Given the description of an element on the screen output the (x, y) to click on. 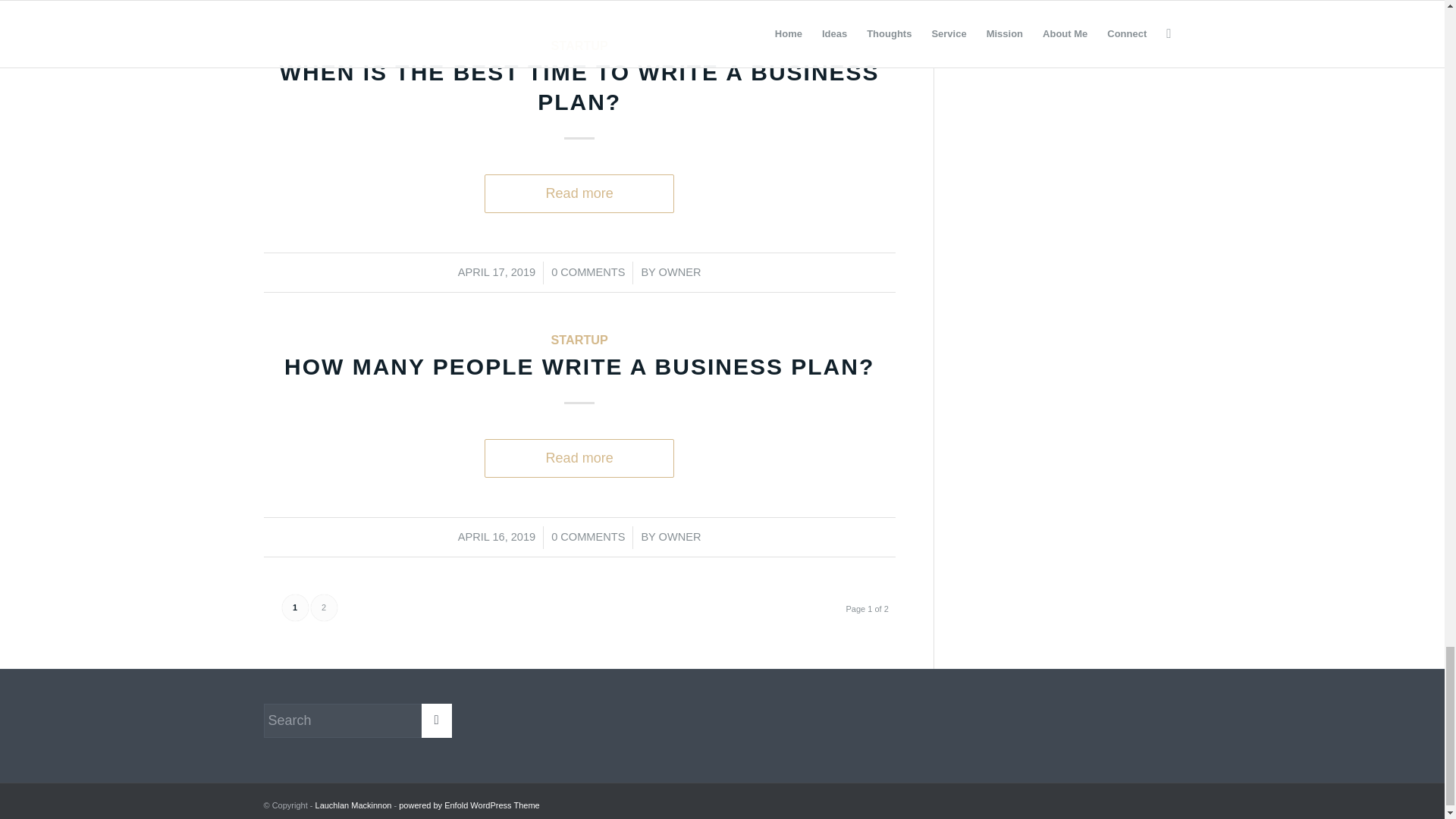
STARTUP (579, 45)
WHEN IS THE BEST TIME TO WRITE A BUSINESS PLAN? (579, 85)
OWNER (680, 272)
Posts by Owner (680, 536)
Permanent Link: How Many People Write A Business Plan? (579, 366)
Read more (579, 193)
0 COMMENTS (587, 272)
Posts by Owner (680, 272)
STARTUP (579, 339)
